Given the description of an element on the screen output the (x, y) to click on. 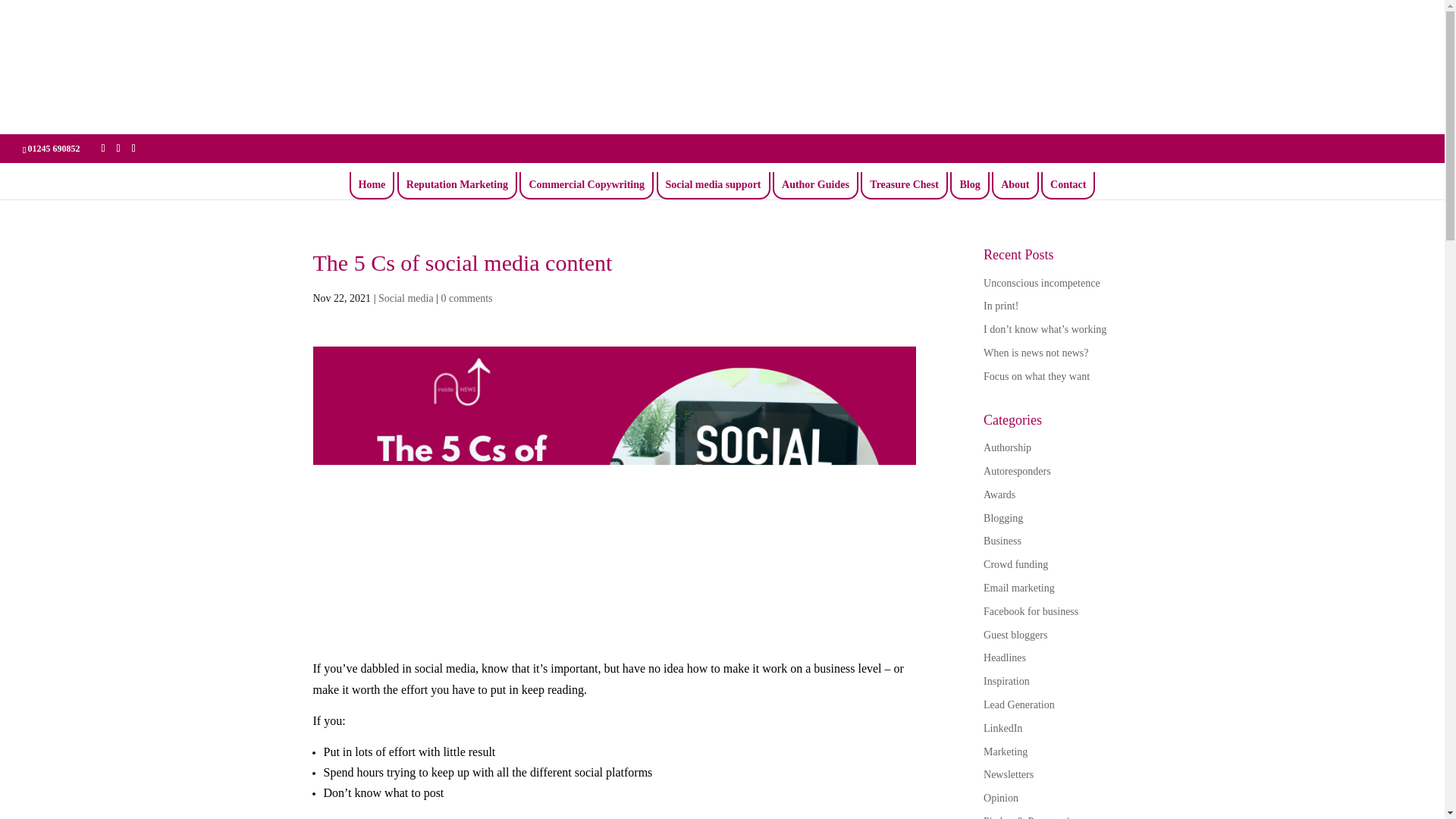
Focus on what they want (1036, 376)
Commercial Copywriting (586, 185)
Unconscious incompetence (1042, 283)
Home (371, 185)
When is news not news? (1035, 352)
Contact (1067, 185)
Social media support (713, 185)
Reputation Marketing (457, 185)
Blog (969, 185)
0 comments (466, 297)
